Given the description of an element on the screen output the (x, y) to click on. 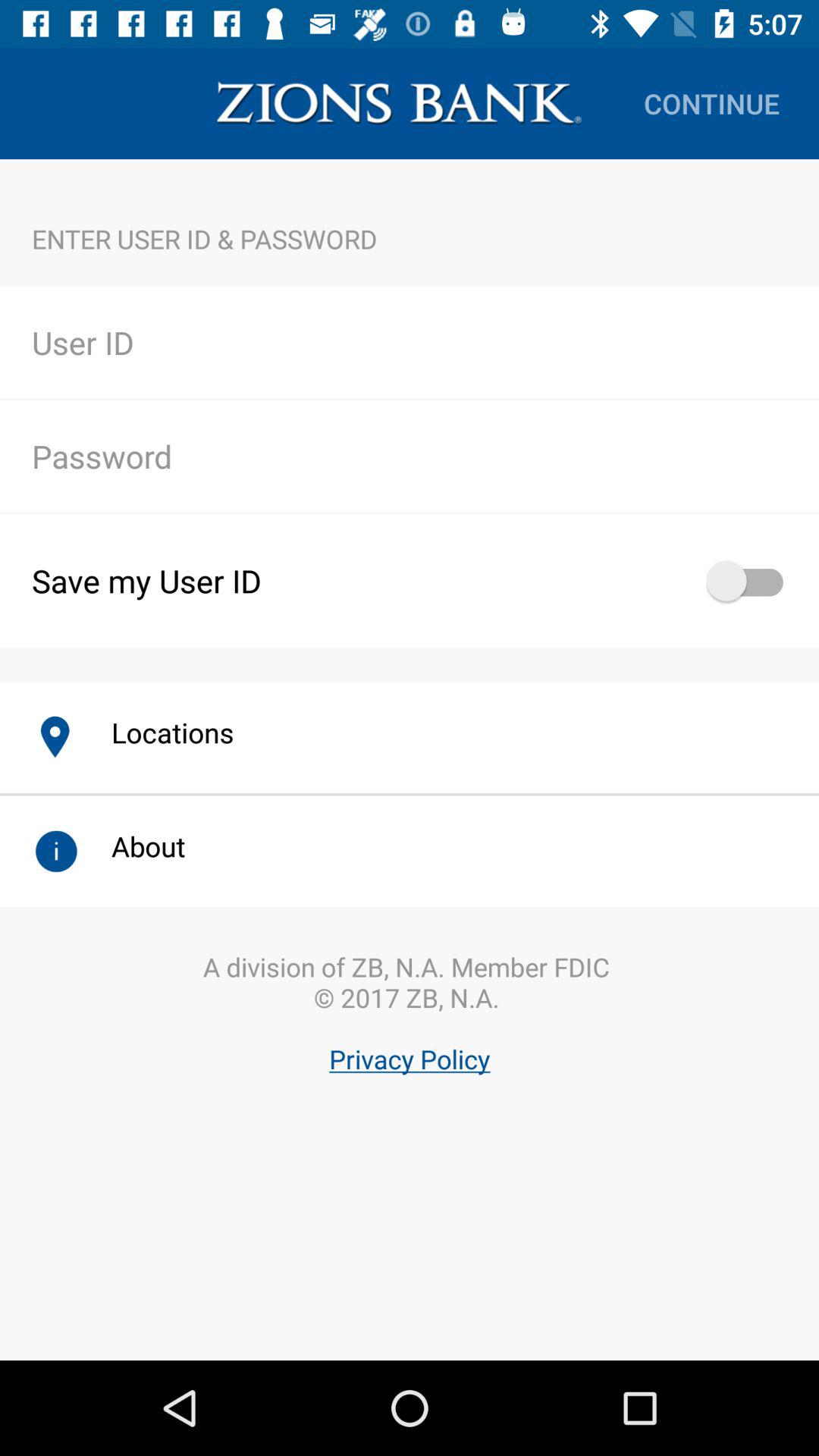
click on the symbol which is left hand side of the text about (55, 851)
